Given the description of an element on the screen output the (x, y) to click on. 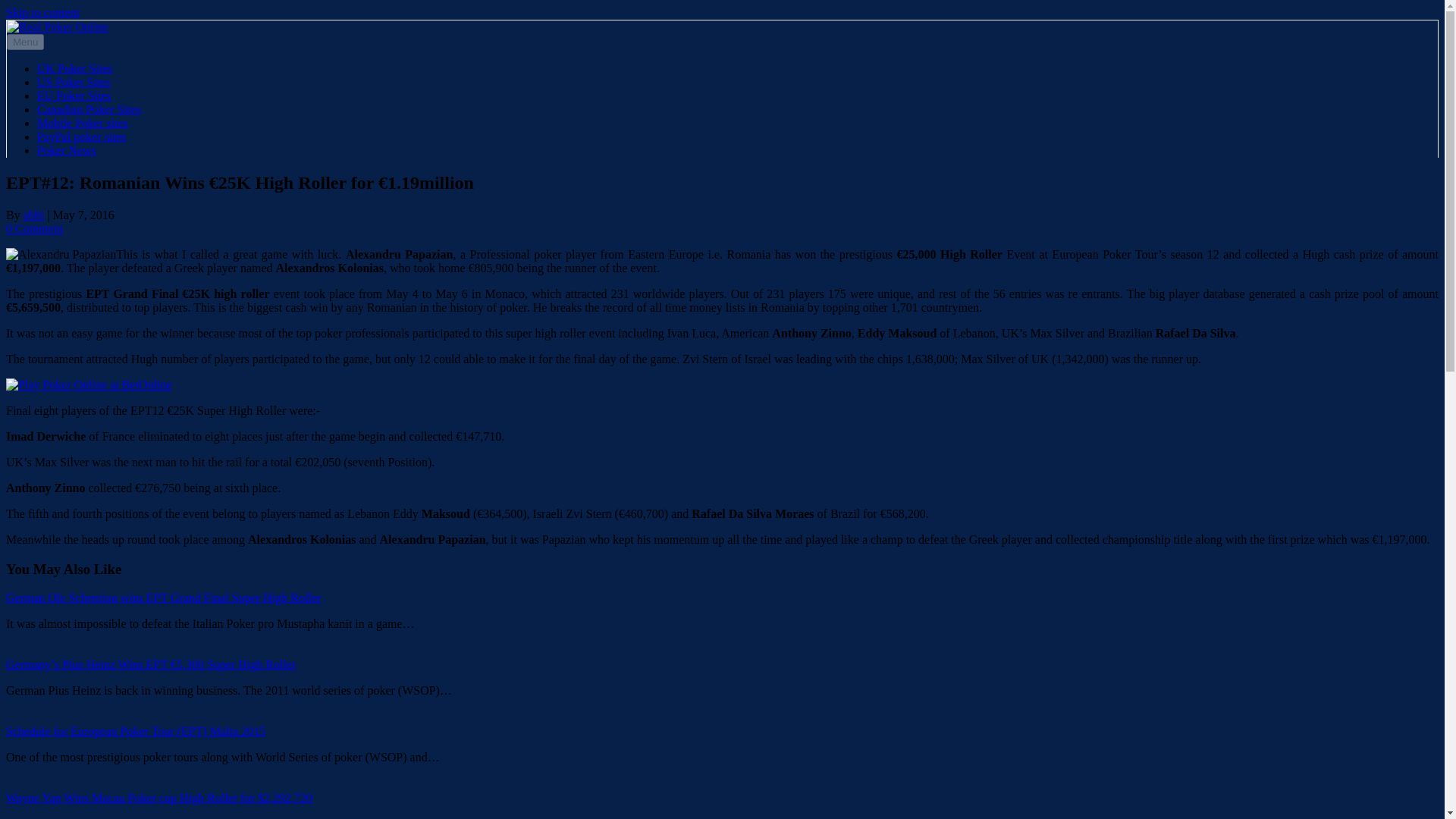
Skip to content (42, 11)
Real Poker Online (57, 26)
US Poker Sites (73, 82)
Poker News (66, 150)
Mobile Poker sites (82, 123)
abhi (34, 214)
Posts by abhi (34, 214)
Skip to content (42, 11)
Menu (25, 41)
EU Poker Sites (74, 95)
UK Poker Sites (75, 68)
Alexandru Papazian (60, 254)
PayPal poker sites (81, 136)
0 Comment (33, 228)
Canadian Poker Sites (89, 109)
